Given the description of an element on the screen output the (x, y) to click on. 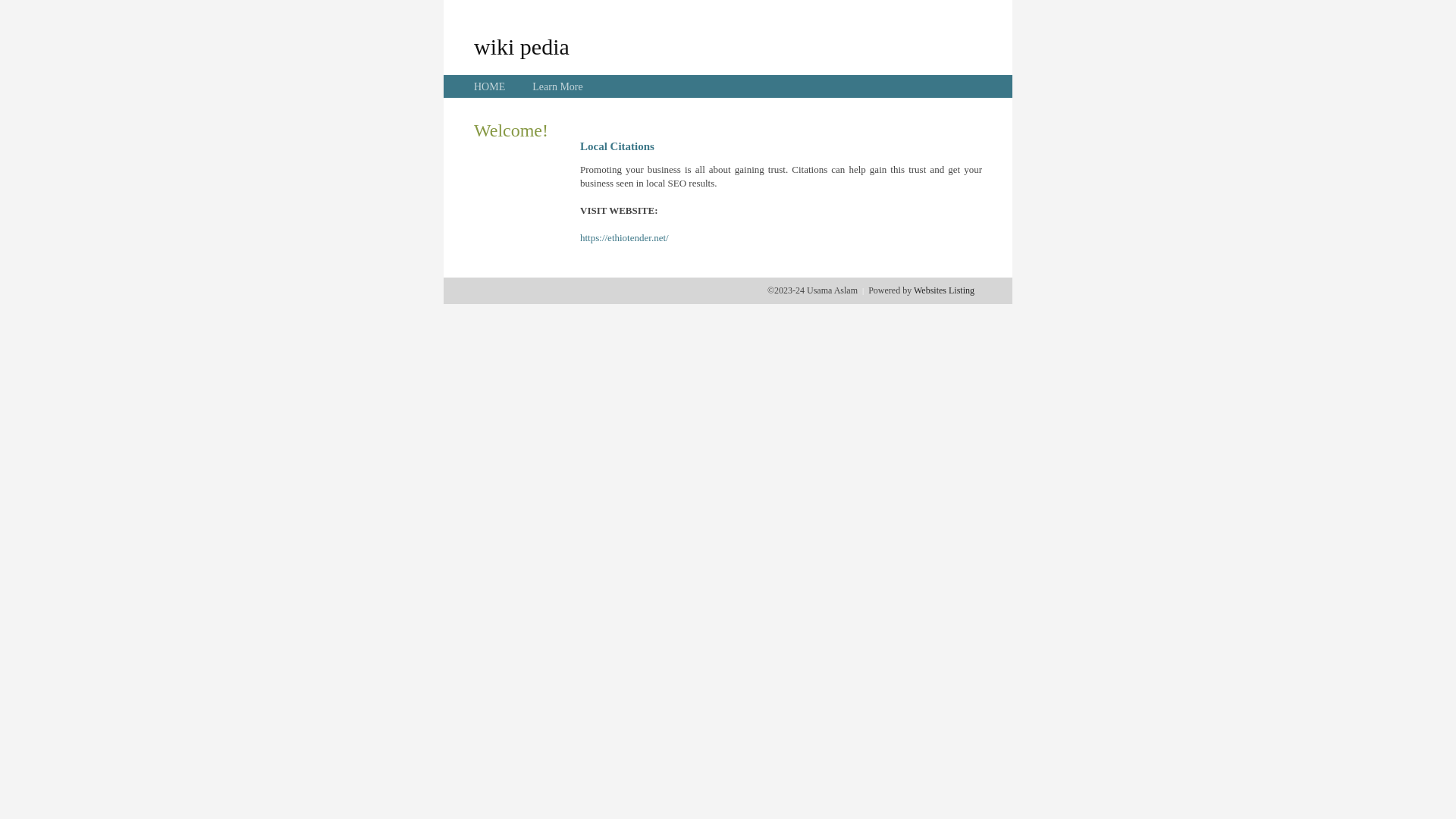
Websites Listing Element type: text (943, 290)
HOME Element type: text (489, 86)
Learn More Element type: text (557, 86)
wiki pedia Element type: text (521, 46)
https://ethiotender.net/ Element type: text (624, 237)
